Given the description of an element on the screen output the (x, y) to click on. 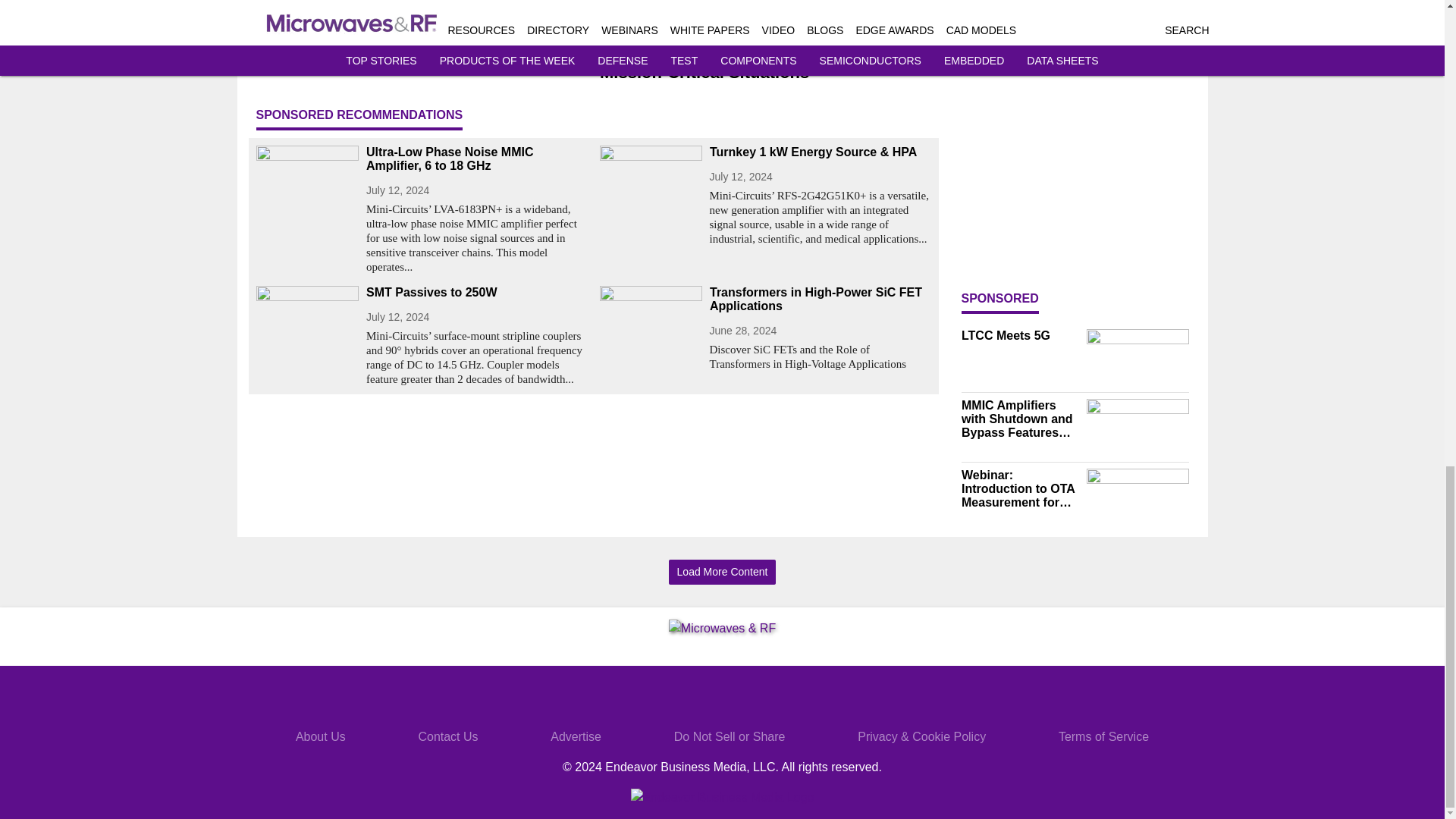
Ultra-Low Phase Noise MMIC Amplifier, 6 to 18 GHz (476, 158)
SMT Passives to 250W (476, 292)
Transformers in High-Power SiC FET Applications (820, 298)
Speedy Switches Minimize Gate Lags (422, 53)
